Given the description of an element on the screen output the (x, y) to click on. 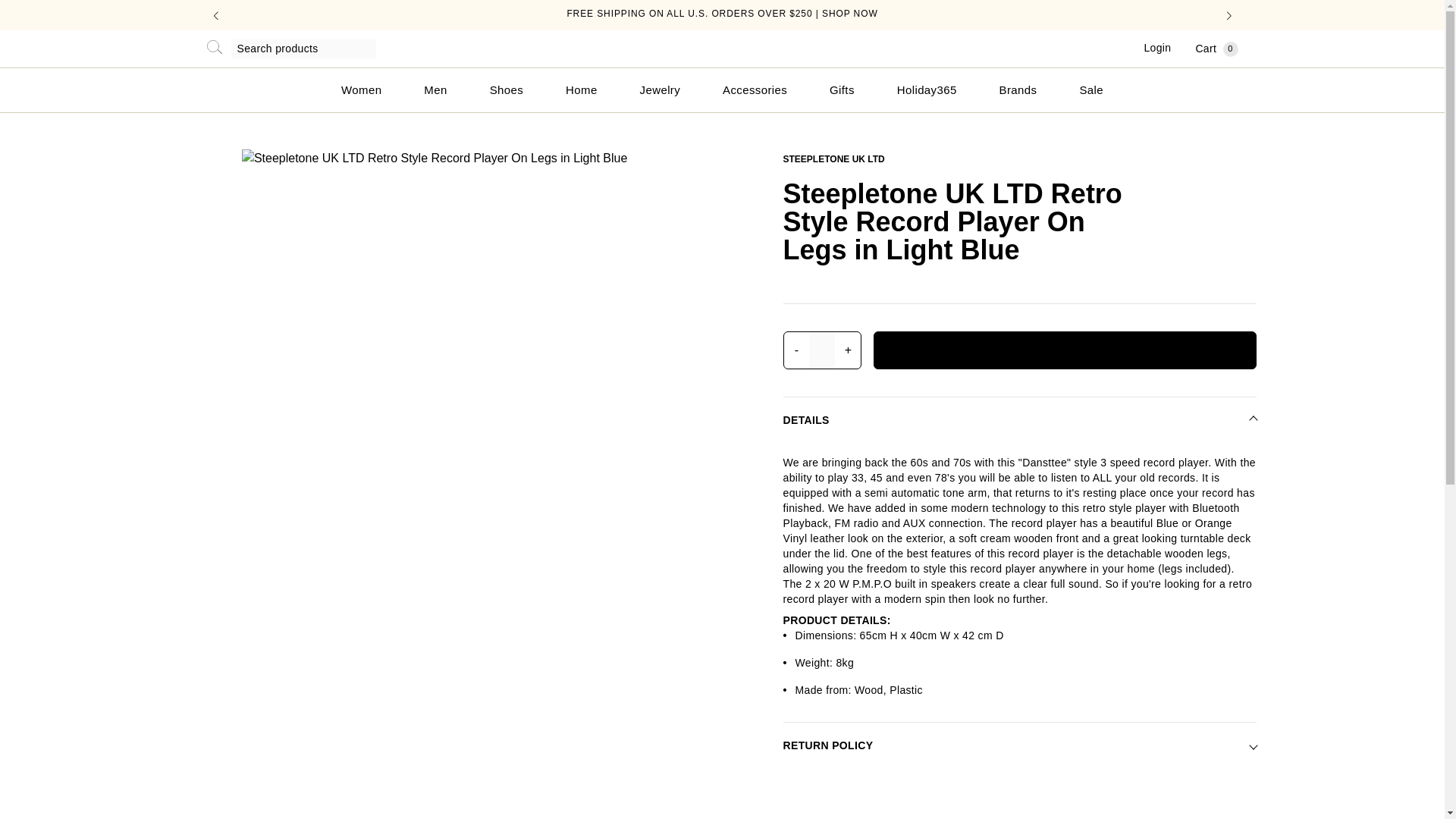
STEEPLETONE UK LTD (833, 158)
Women (361, 89)
Login (1216, 48)
